Given the description of an element on the screen output the (x, y) to click on. 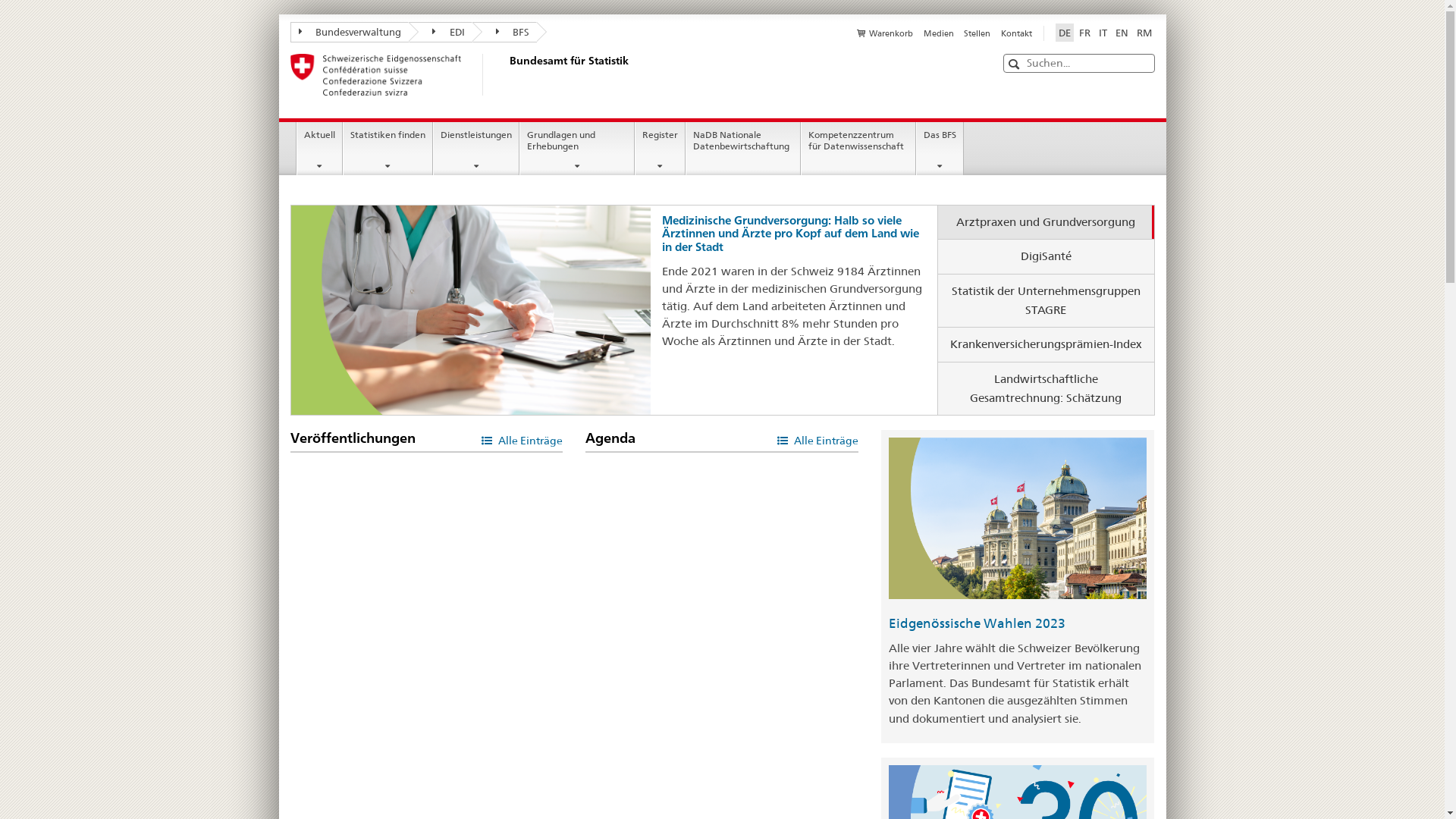
DE Element type: text (1064, 32)
Aktuell Element type: text (319, 148)
Warenkorb Element type: text (884, 33)
Kontakt Element type: text (1016, 33)
NaDB Nationale Datenbewirtschaftung Element type: text (743, 148)
IT Element type: text (1102, 32)
Das BFS Element type: text (939, 148)
RM Element type: text (1143, 32)
Stellen Element type: text (976, 33)
Statistiken finden Element type: text (387, 148)
FR Element type: text (1083, 32)
Arztpraxen und Grundversorgung Element type: text (1046, 222)
Bundesverwaltung Element type: text (348, 31)
BFS Element type: text (503, 31)
EDI Element type: text (440, 31)
Grundlagen und Erhebungen Element type: text (576, 148)
EN Element type: text (1120, 32)
Register Element type: text (659, 148)
Dienstleistungen Element type: text (475, 148)
Suche Element type: text (1015, 63)
Medien Element type: text (938, 33)
Statistik der Unternehmensgruppen STAGRE Element type: text (1046, 300)
